Given the description of an element on the screen output the (x, y) to click on. 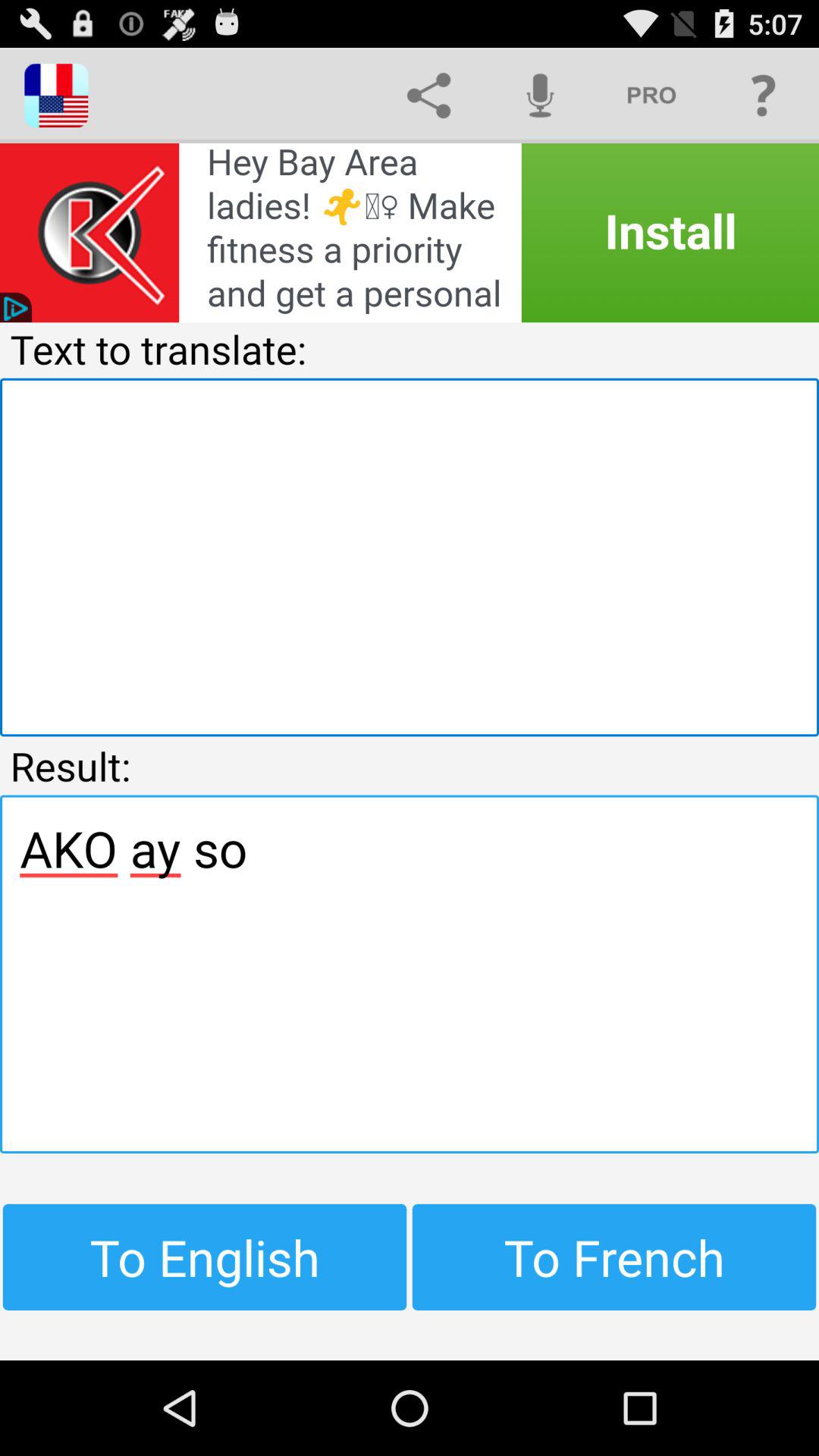
launch ako ay so at the bottom (409, 974)
